Given the description of an element on the screen output the (x, y) to click on. 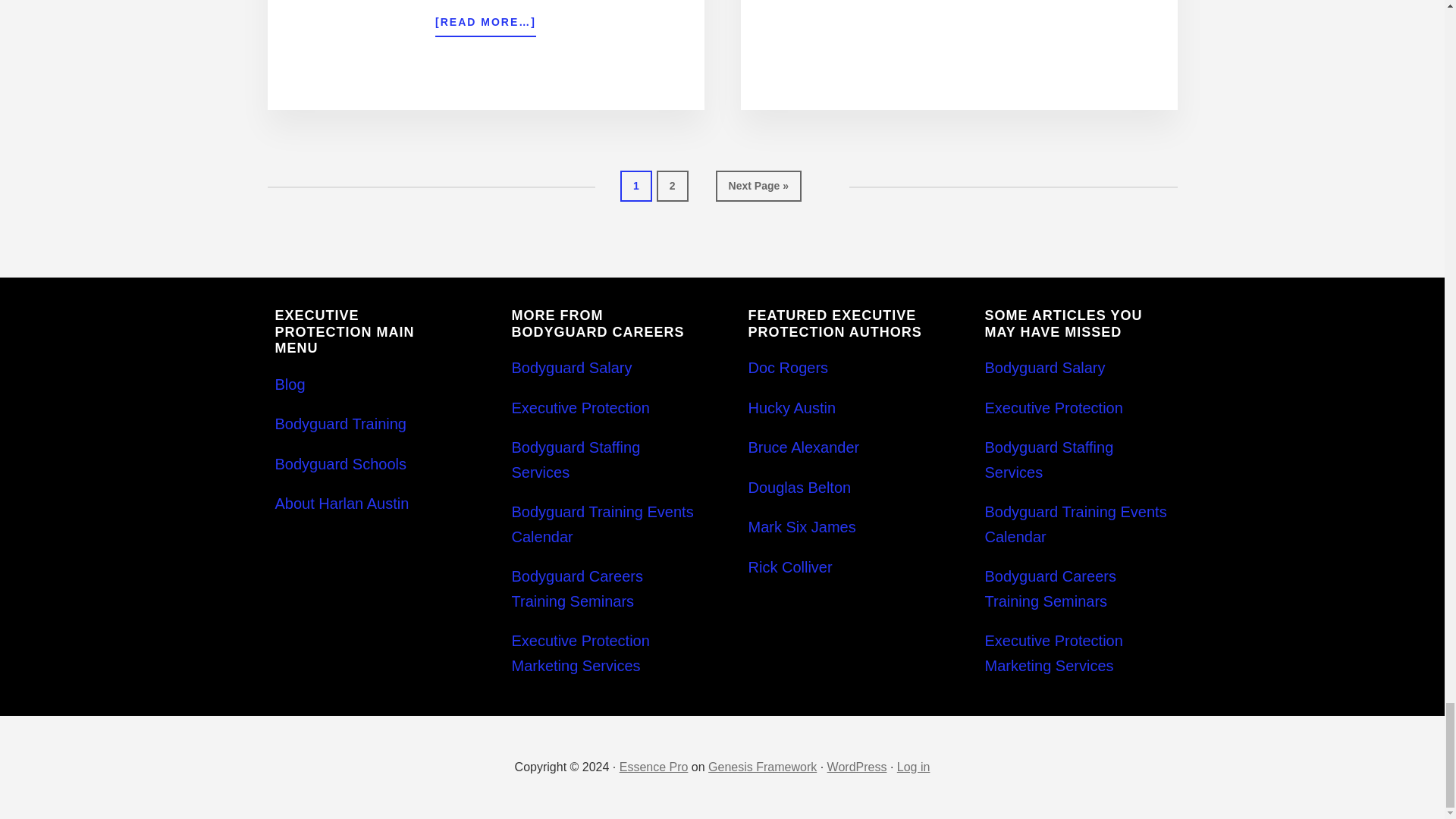
Bodyguard Salary (1044, 367)
Bodyguard Salary (571, 367)
